Given the description of an element on the screen output the (x, y) to click on. 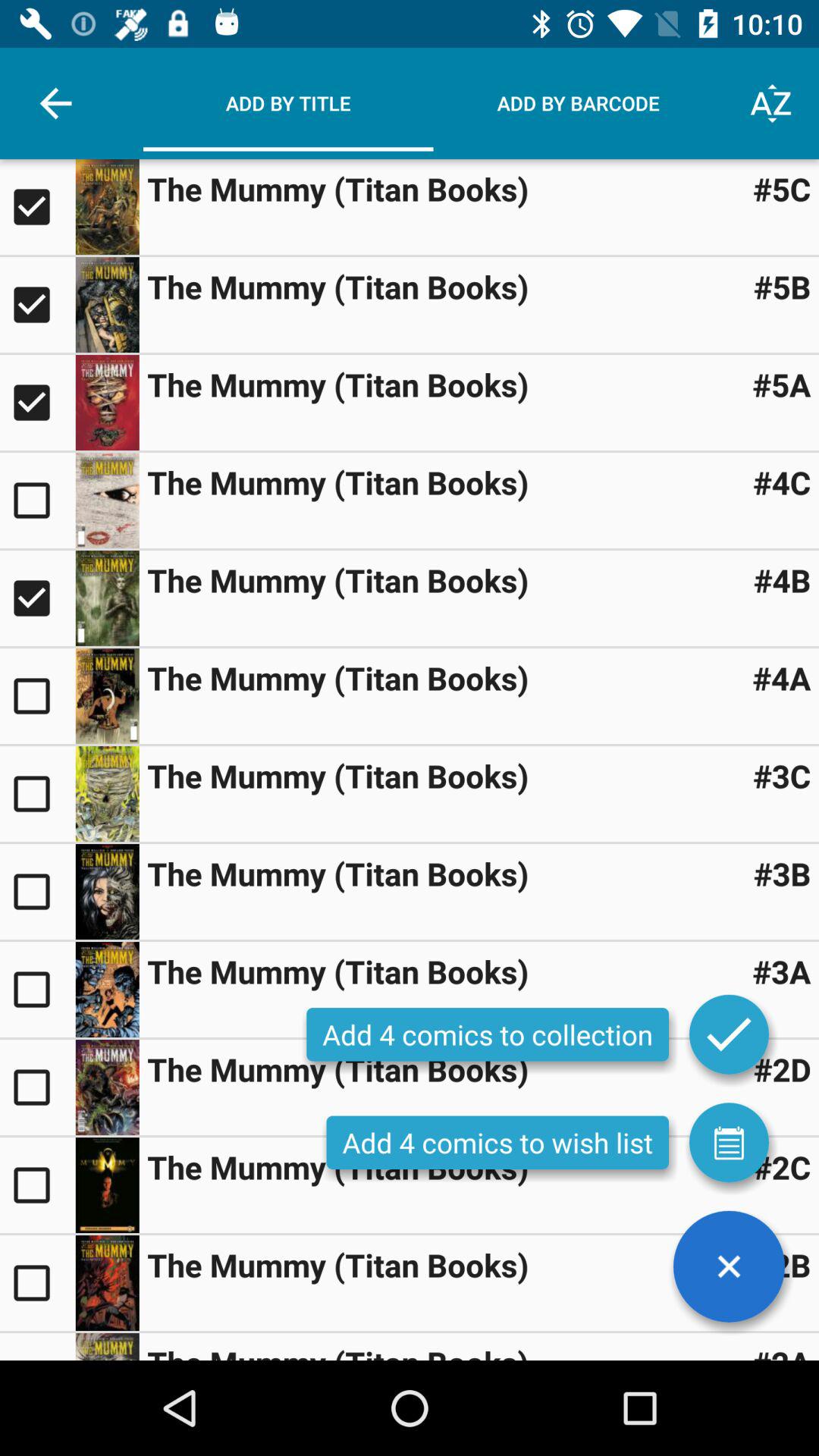
open icon above the mummy titan icon (729, 1266)
